Given the description of an element on the screen output the (x, y) to click on. 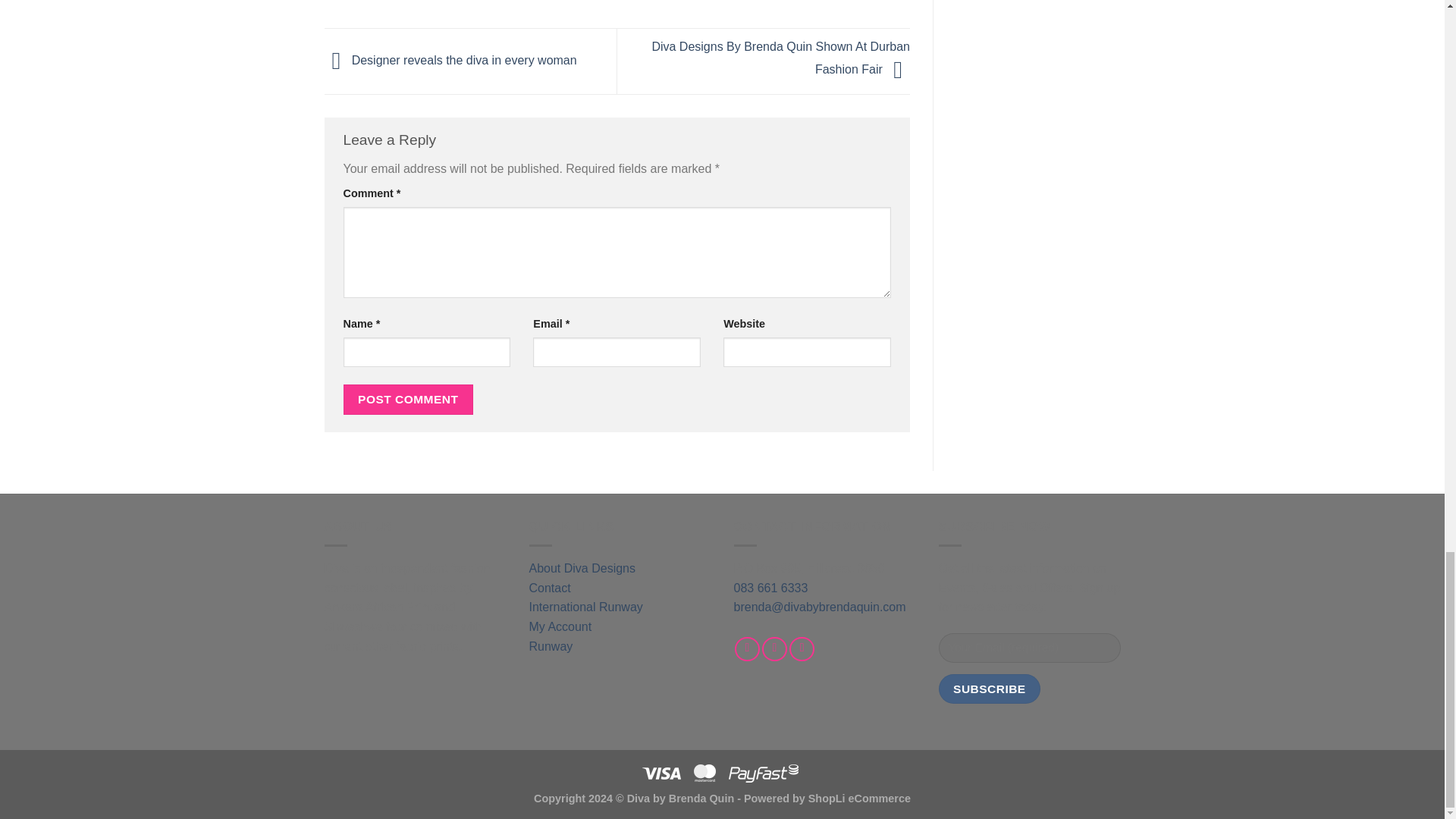
Post Comment (407, 399)
Diva Designs By Brenda Quin Shown At Durban Fashion Fair (780, 58)
Post Comment (407, 399)
Subscribe (990, 688)
Designer reveals the diva in every woman (450, 60)
